Given the description of an element on the screen output the (x, y) to click on. 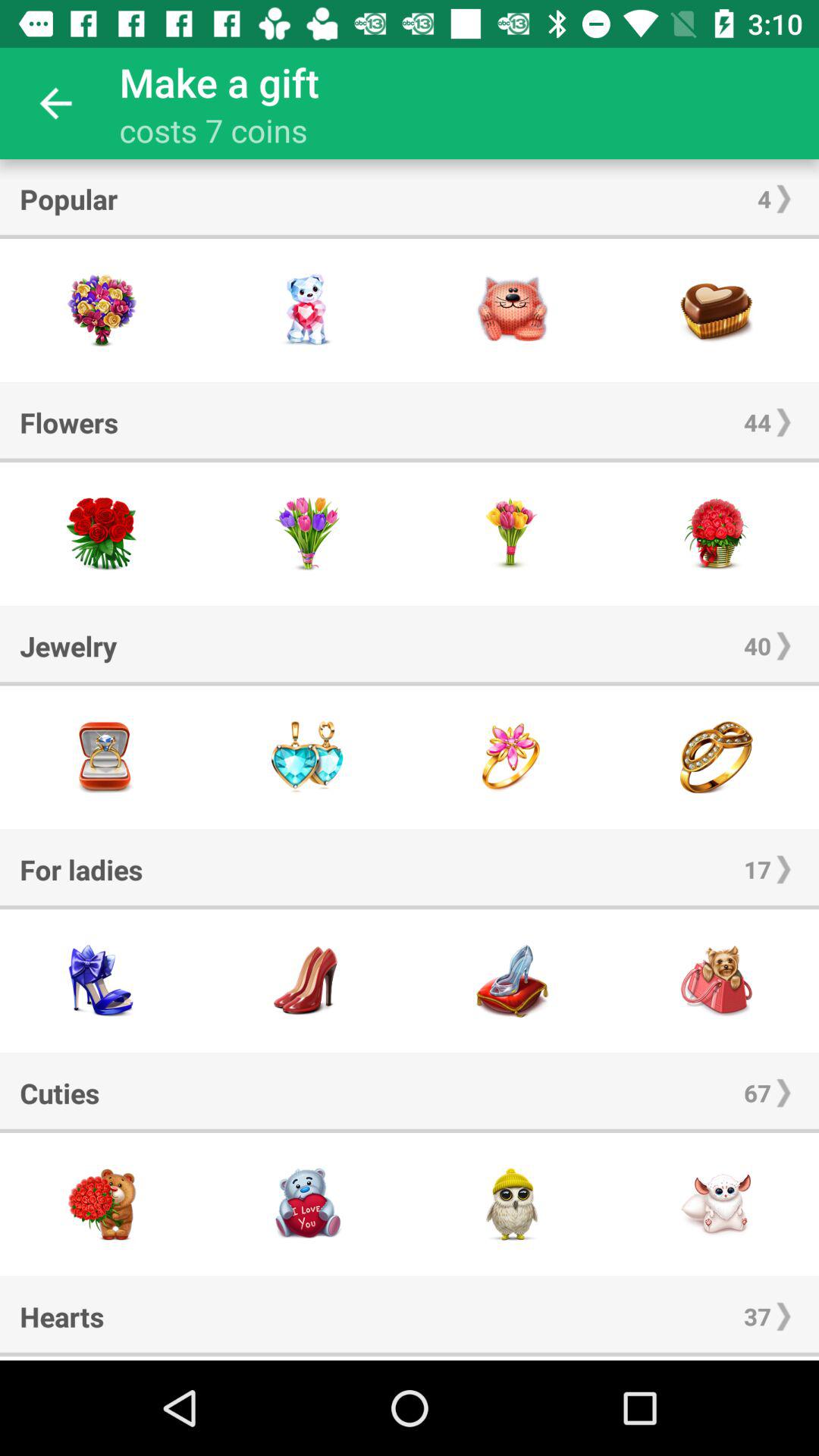
select the 37 item (757, 1316)
